Given the description of an element on the screen output the (x, y) to click on. 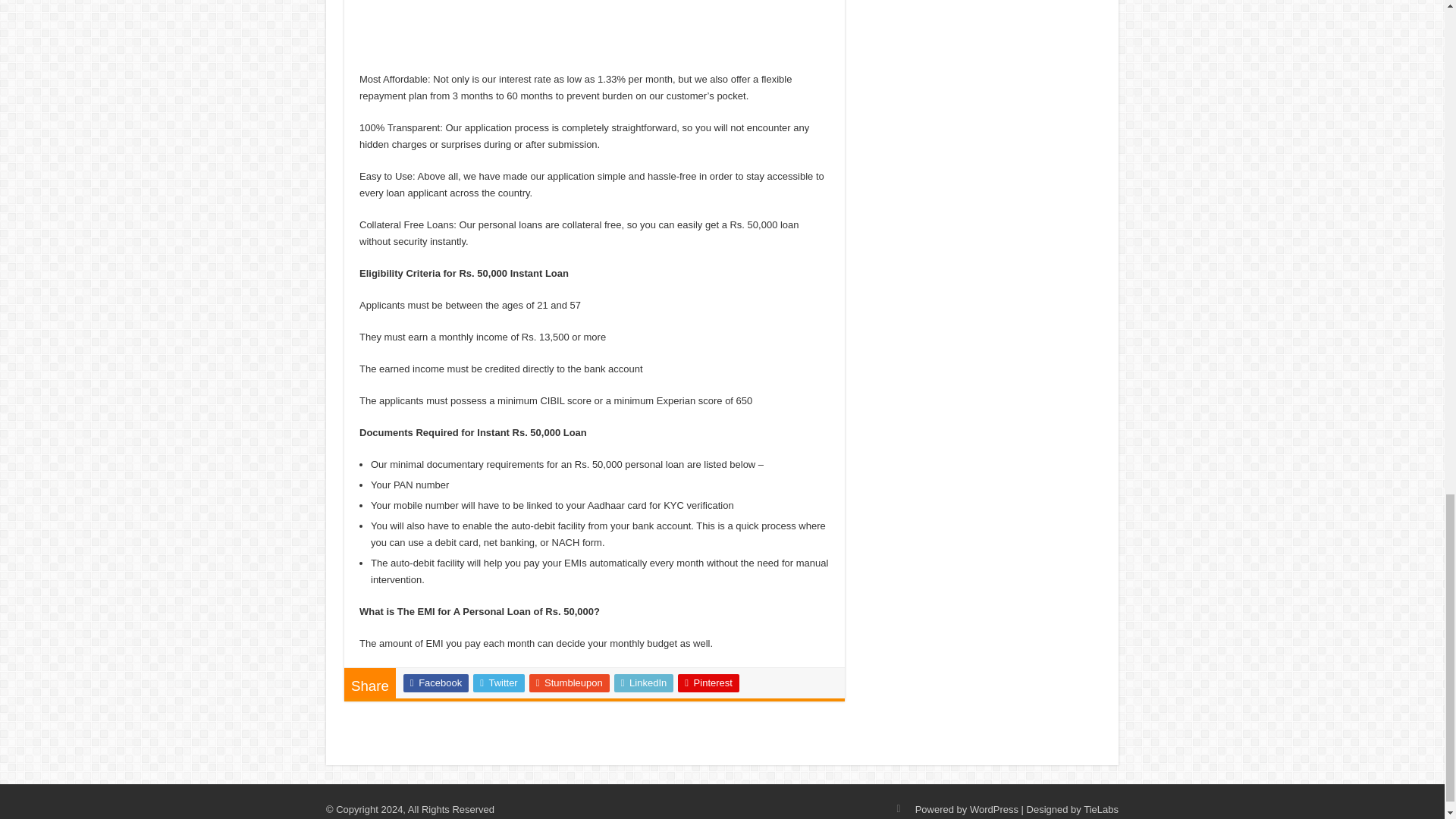
Stumbleupon (569, 683)
Facebook (435, 683)
Twitter (498, 683)
LinkedIn (644, 683)
